Given the description of an element on the screen output the (x, y) to click on. 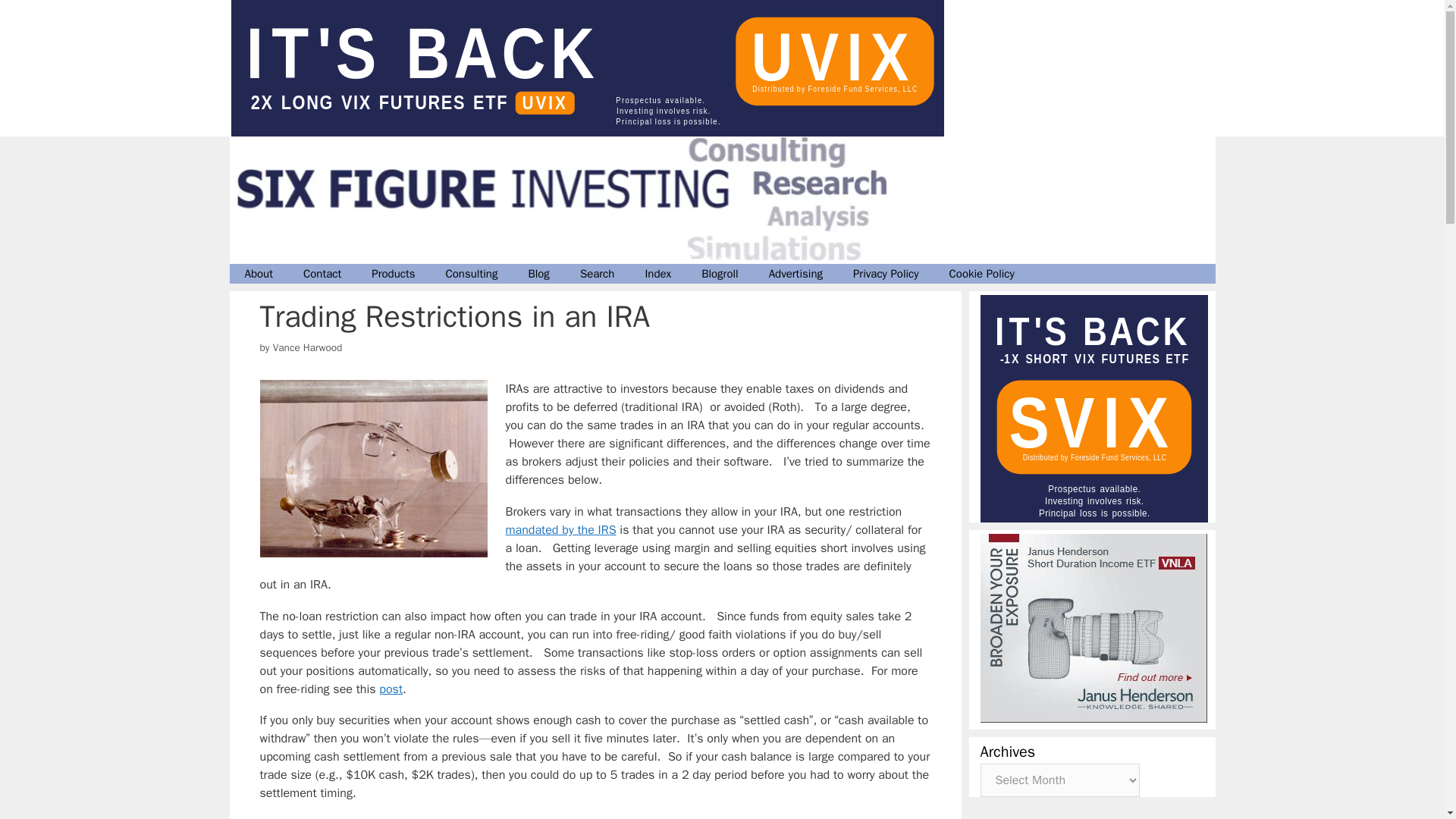
Six Figure Investing (573, 199)
mandated by the IRS (560, 529)
Consulting (471, 273)
Index (656, 273)
Products (392, 273)
Blogroll (719, 273)
Blog (538, 273)
Vance Harwood (307, 347)
Privacy Policy (886, 273)
post (390, 688)
Advertising (796, 273)
About (257, 273)
Six Figure Investing (573, 199)
View all posts by Vance Harwood (307, 347)
clx-roost-glass-piggy-bank-2009-de (372, 468)
